Given the description of an element on the screen output the (x, y) to click on. 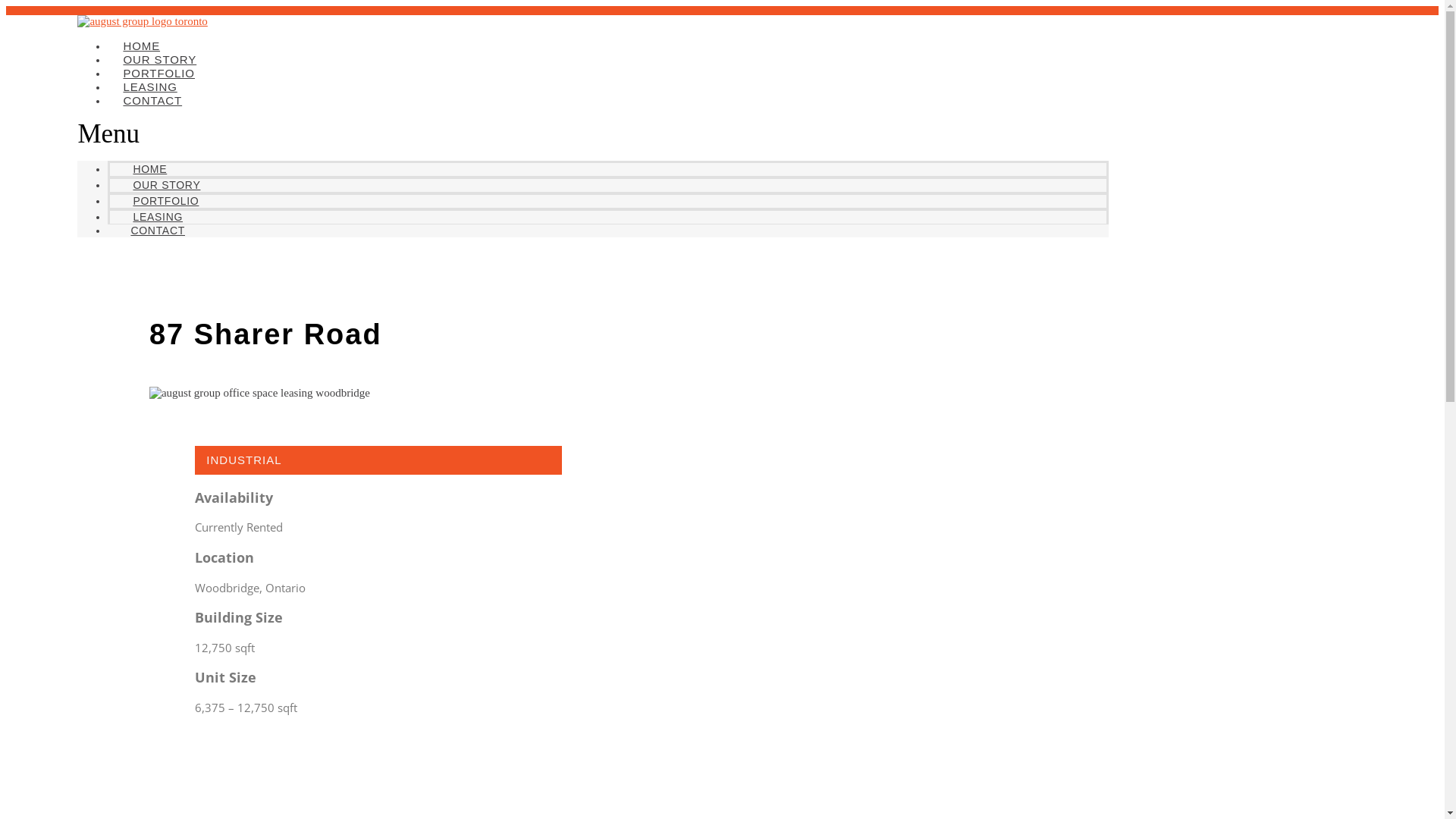
HOME Element type: text (149, 168)
OUR STORY Element type: text (159, 59)
CONTACT Element type: text (157, 230)
PORTFOLIO Element type: text (165, 200)
LEASING Element type: text (157, 216)
OUR STORY Element type: text (165, 184)
CONTACT Element type: text (152, 100)
LEASING Element type: text (149, 86)
HOME Element type: text (141, 45)
PORTFOLIO Element type: text (158, 72)
